Given the description of an element on the screen output the (x, y) to click on. 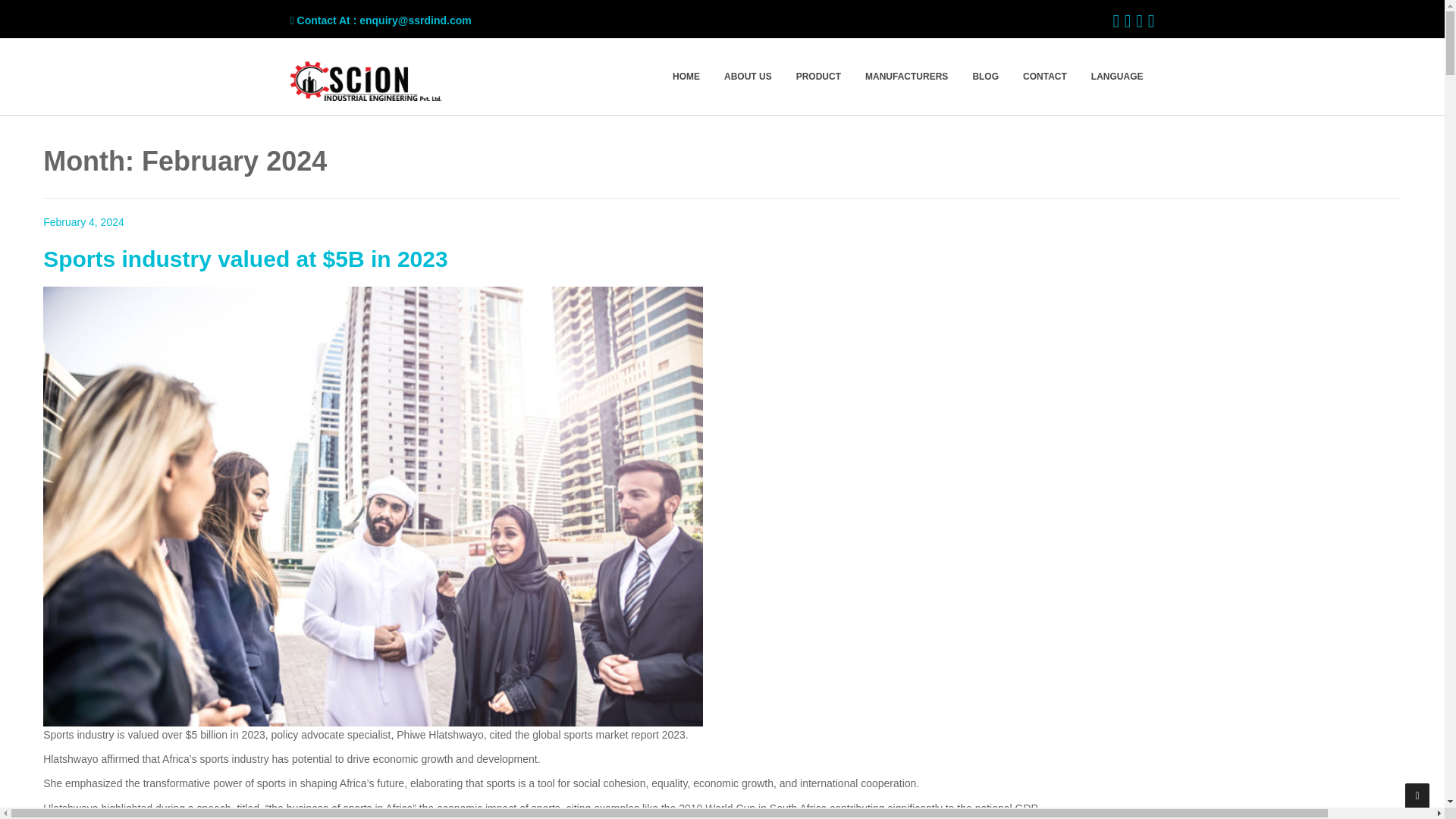
PRODUCT (817, 76)
ABOUT US (748, 76)
HOME (686, 76)
